Given the description of an element on the screen output the (x, y) to click on. 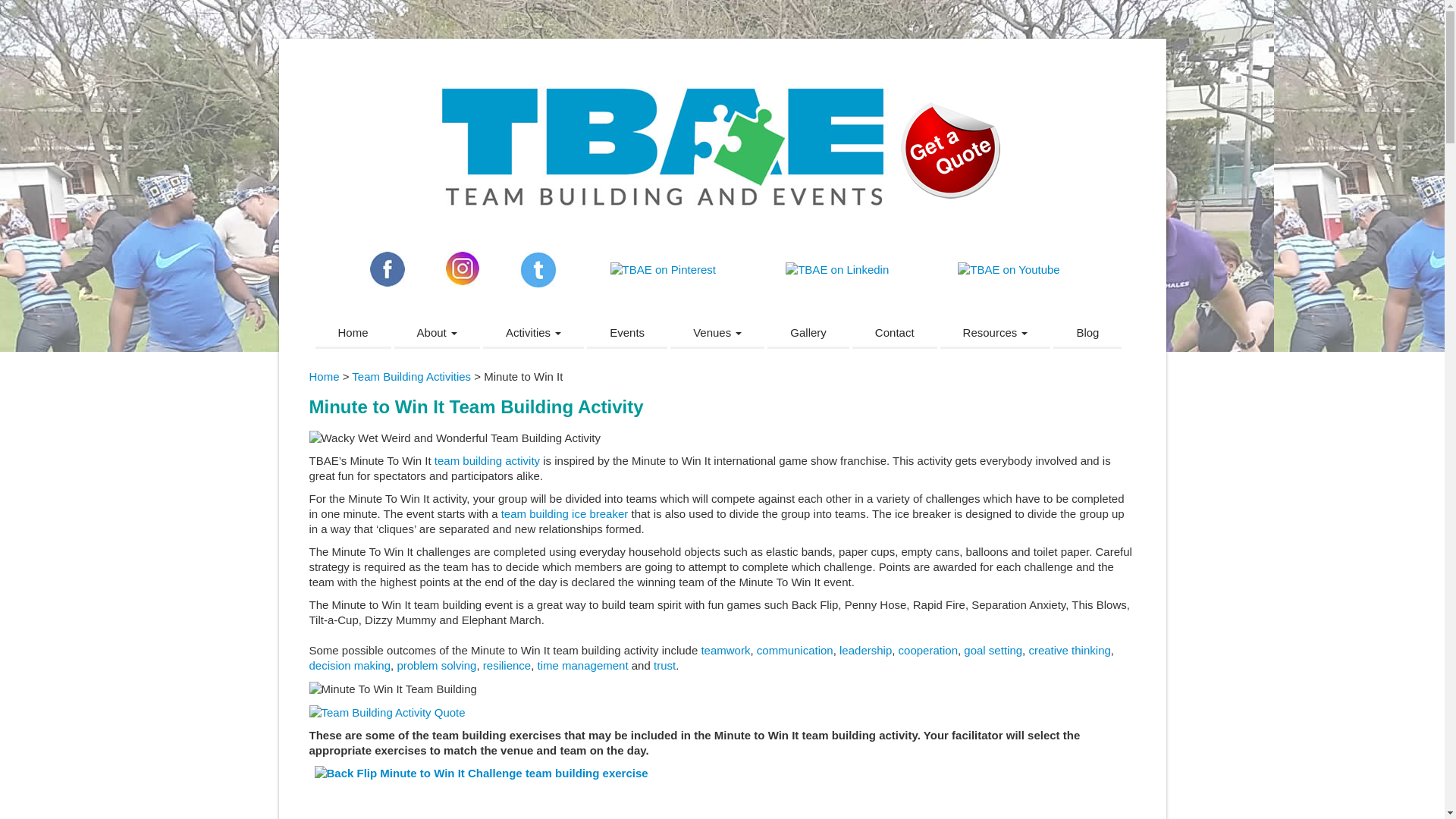
Gallery of Team Building Events (807, 333)
Cooperation Outcome Based Team Building Activities (928, 649)
Leadership Outcome Based Team Building Activities (865, 649)
Home (353, 333)
Creative Thinking Outcome Based Team Building Activities (1068, 649)
Team Building Activities (533, 333)
team building ice breaker (564, 513)
Team Building Articles (995, 333)
About TBAE Team Building and Events (437, 333)
Venues (716, 333)
